Given the description of an element on the screen output the (x, y) to click on. 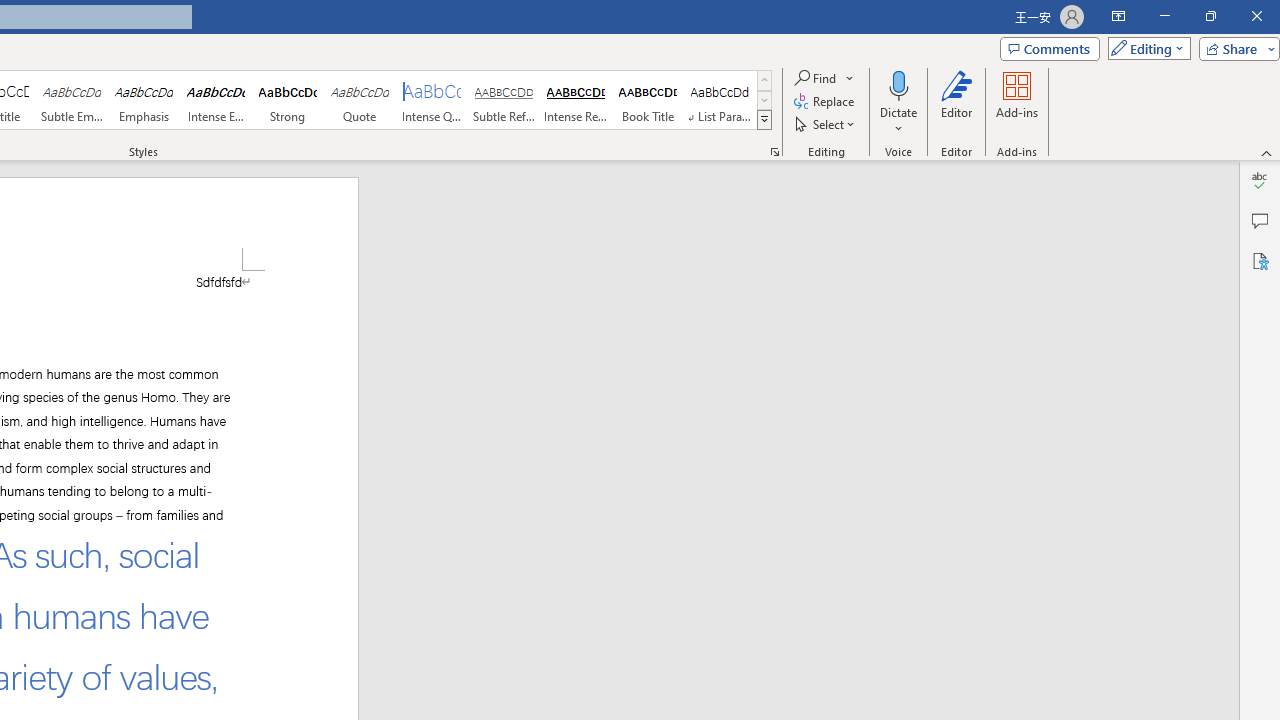
Intense Reference (575, 100)
Intense Emphasis (216, 100)
Quote (359, 100)
Row up (763, 79)
Styles... (774, 151)
Row Down (763, 100)
Book Title (647, 100)
Strong (287, 100)
Intense Quote (431, 100)
Subtle Reference (504, 100)
